Given the description of an element on the screen output the (x, y) to click on. 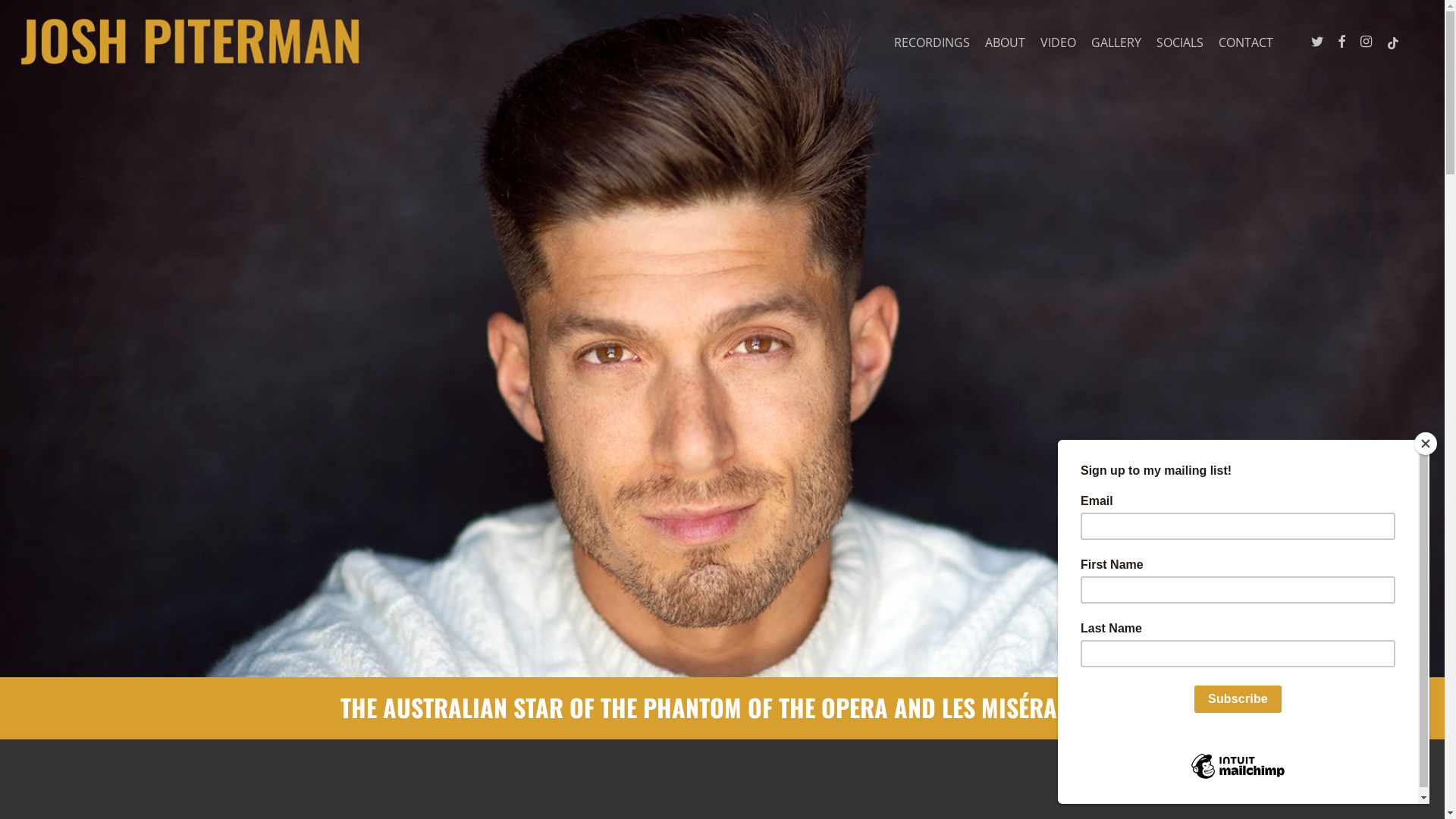
FACEBOOK Element type: text (1341, 41)
INSTAGRAM Element type: text (1365, 41)
GALLERY Element type: text (1115, 42)
CONTACT Element type: text (1245, 42)
RECORDINGS Element type: text (931, 42)
VIDEO Element type: text (1057, 42)
SOCIALS Element type: text (1179, 42)
TIKTOK Element type: text (1392, 41)
ABOUT Element type: text (1004, 42)
TWITTER Element type: text (1316, 41)
